Given the description of an element on the screen output the (x, y) to click on. 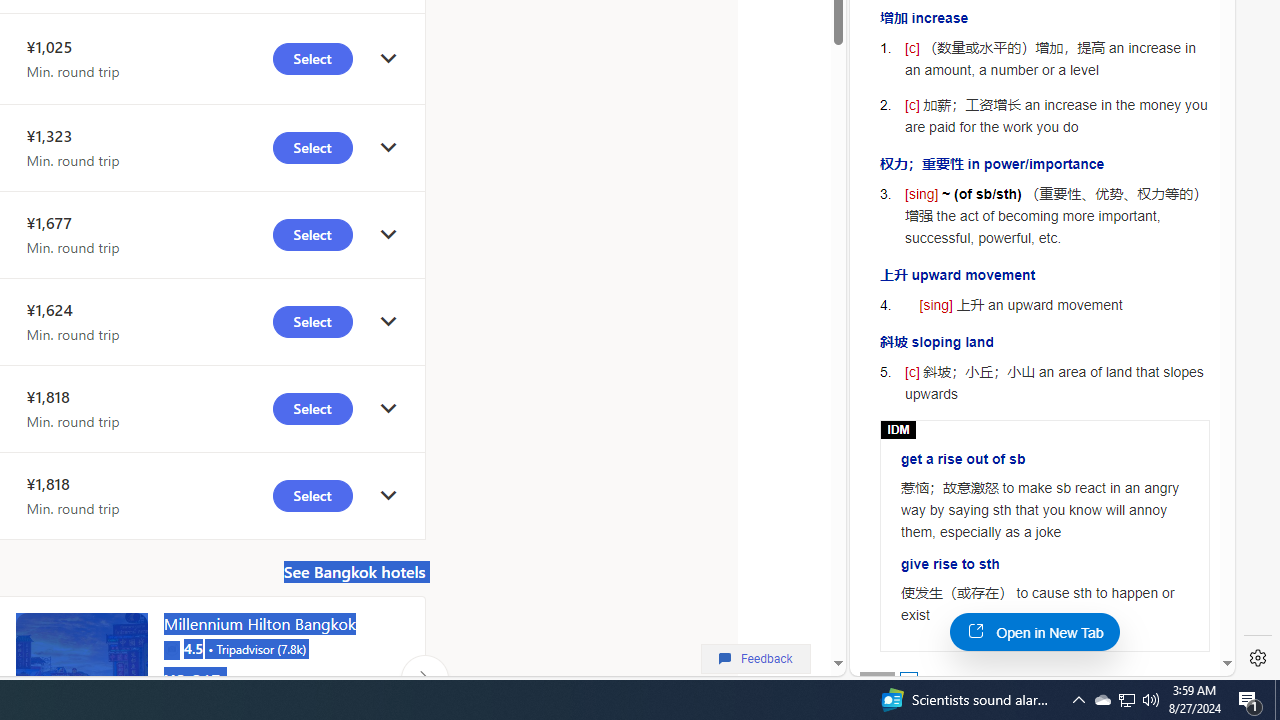
Tripadvisor (171, 648)
click to get details (388, 494)
Click to scroll right (424, 677)
AutomationID: posbtn_1 (908, 680)
